Given the description of an element on the screen output the (x, y) to click on. 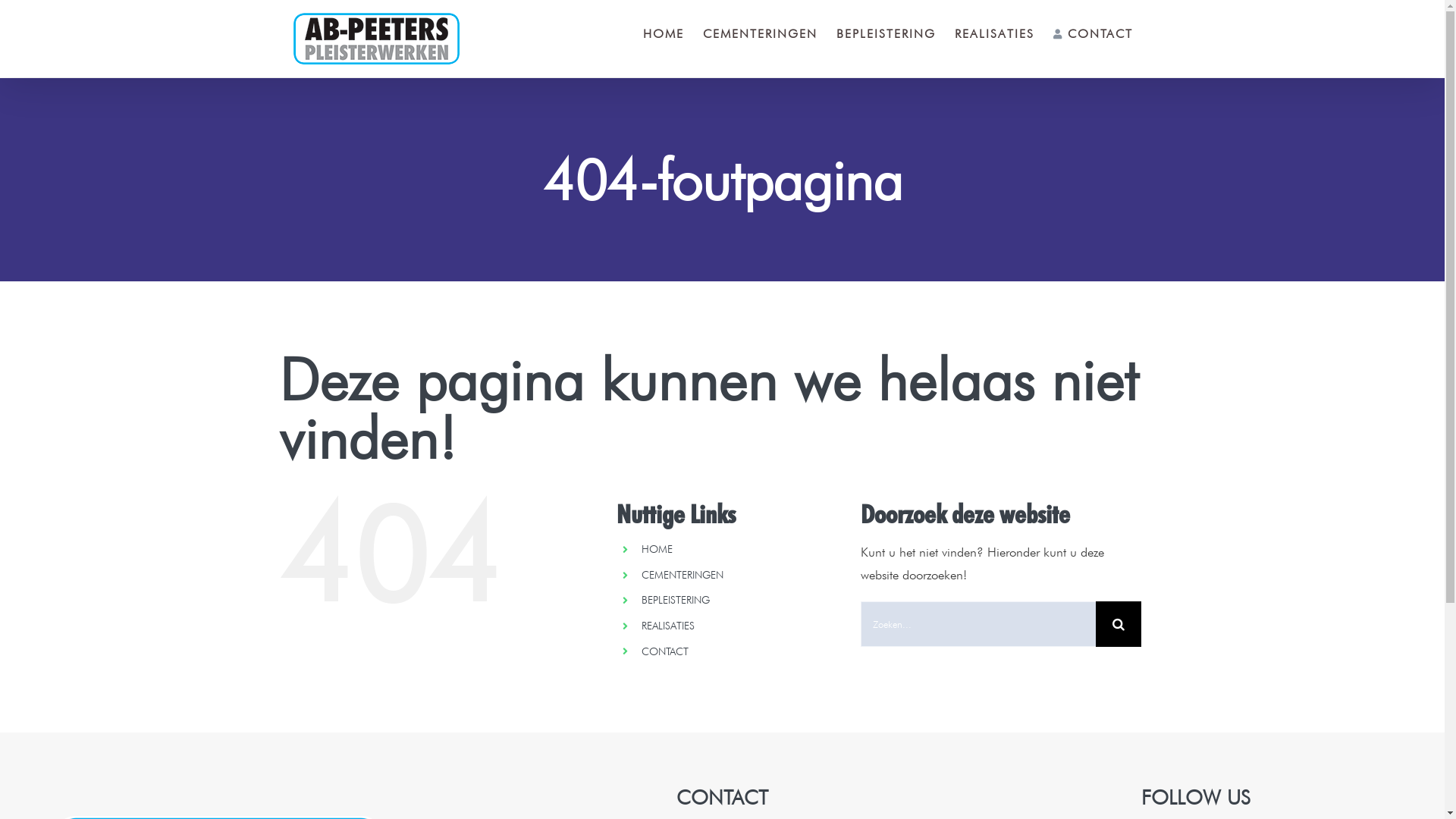
REALISATIES Element type: text (667, 625)
CEMENTERINGEN Element type: text (759, 34)
BEPLEISTERING Element type: text (885, 34)
CONTACT Element type: text (1093, 34)
HOME Element type: text (663, 34)
BEPLEISTERING Element type: text (675, 599)
REALISATIES Element type: text (994, 34)
CONTACT Element type: text (664, 651)
HOME Element type: text (656, 548)
CEMENTERINGEN Element type: text (682, 574)
